Given the description of an element on the screen output the (x, y) to click on. 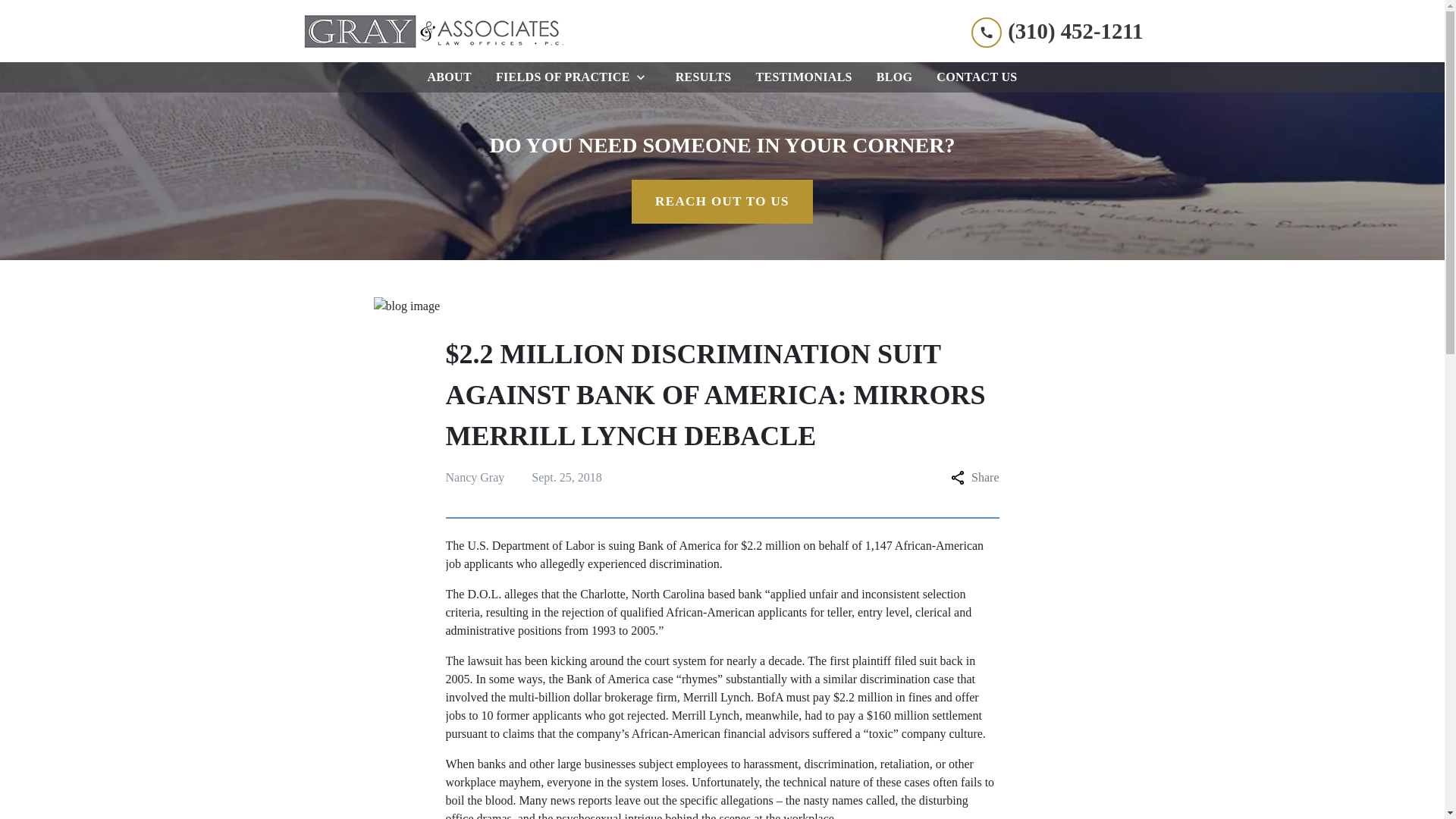
TESTIMONIALS (803, 77)
Share (974, 477)
ABOUT (448, 77)
RESULTS (703, 77)
FIELDS OF PRACTICE (559, 77)
REACH OUT TO US (721, 201)
CONTACT US (976, 77)
BLOG (894, 77)
